Given the description of an element on the screen output the (x, y) to click on. 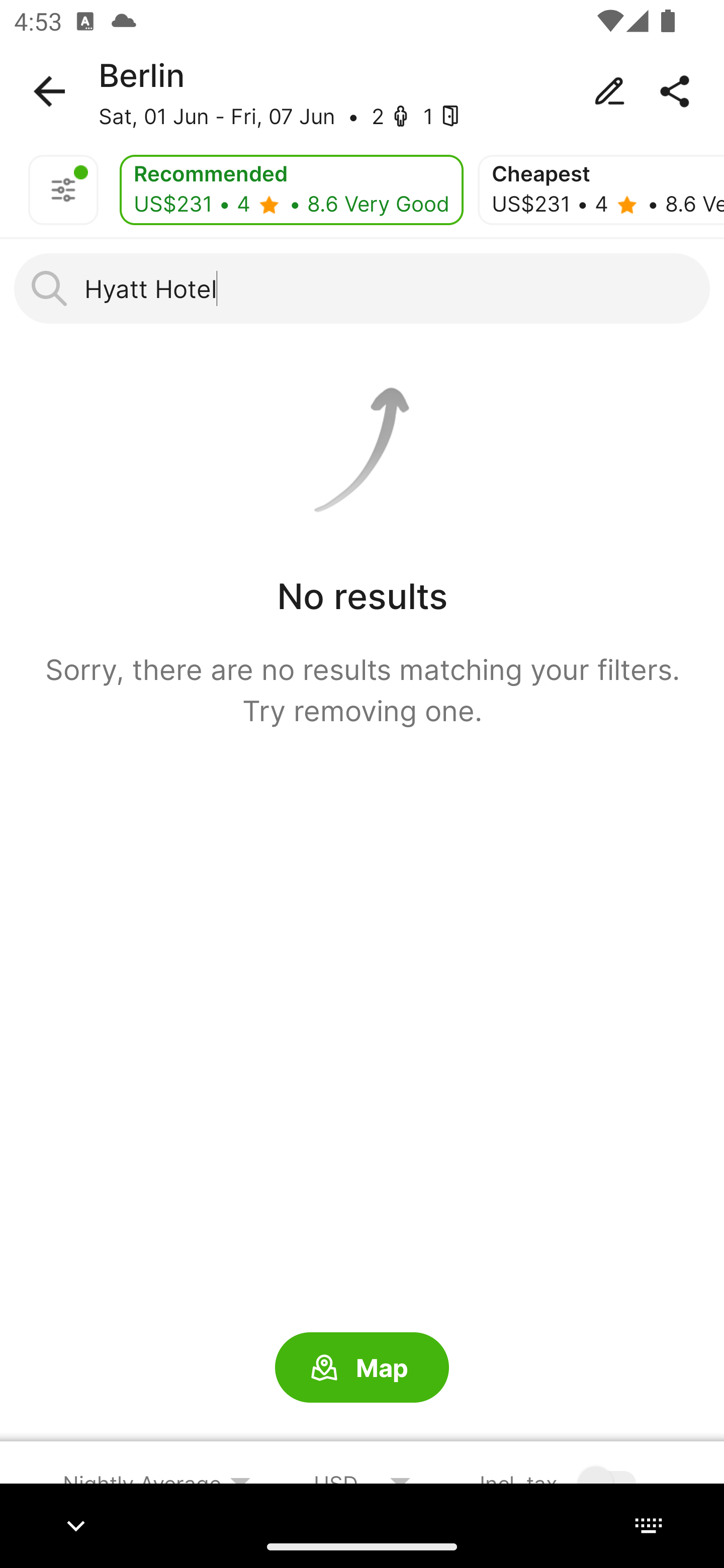
Berlin Sat, 01 Jun - Fri, 07 Jun  •  2 -  1 - (361, 91)
Recommended  US$231  • 4 - • 8.6 Very Good (291, 190)
Cheapest US$231  • 4 - • 8.6 Very Good (600, 190)
Hyatt Hotel (361, 288)
Map  (361, 1367)
